Given the description of an element on the screen output the (x, y) to click on. 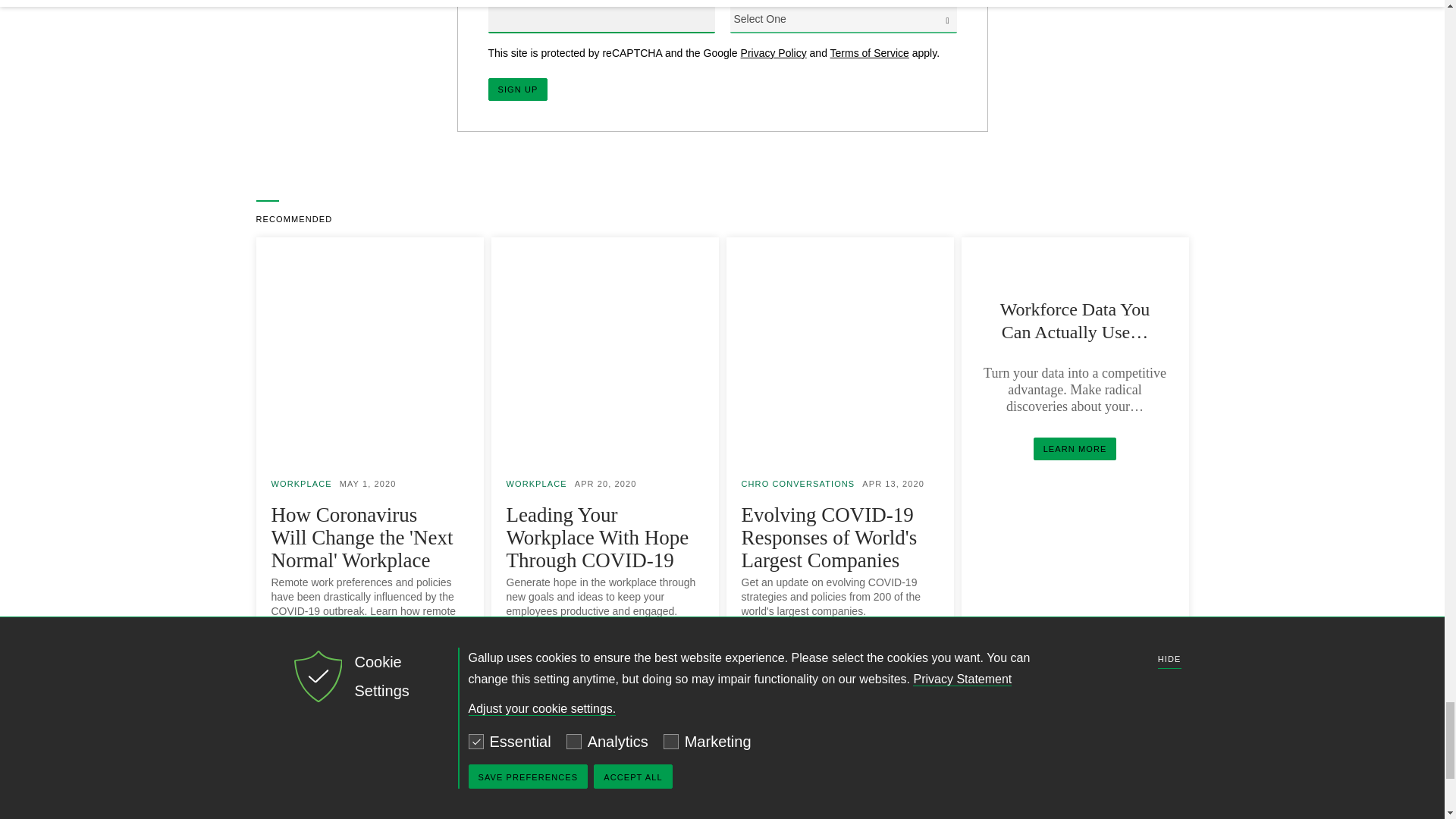
Required (732, 2)
Sign Up (517, 88)
Required (491, 2)
